Given the description of an element on the screen output the (x, y) to click on. 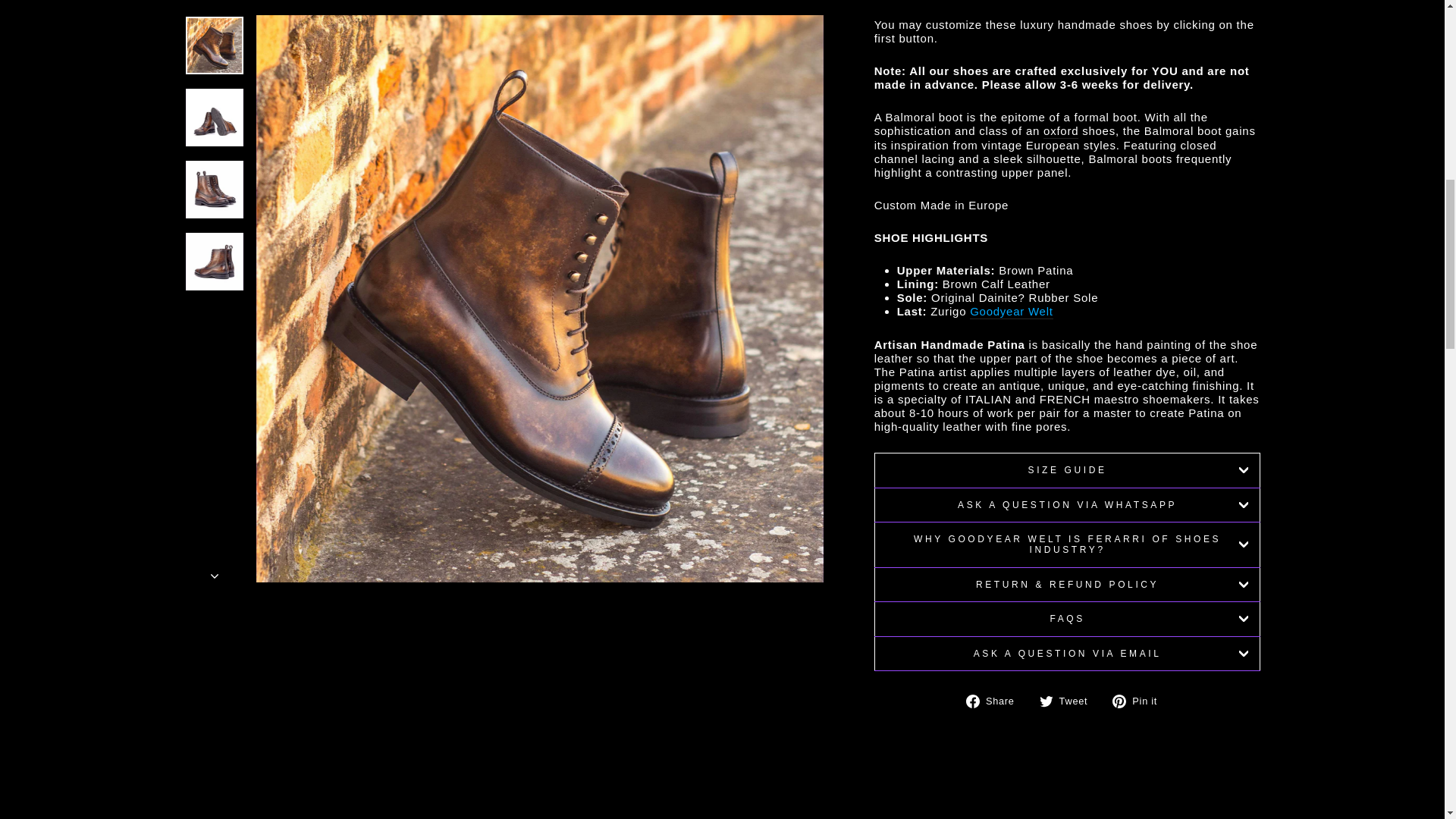
Men Oxford Shoes Collection (1060, 131)
What are Goodyear Welt shoes? (1010, 311)
Share on Facebook (996, 700)
Pin on Pinterest (1140, 700)
Tweet on Twitter (1069, 700)
